Given the description of an element on the screen output the (x, y) to click on. 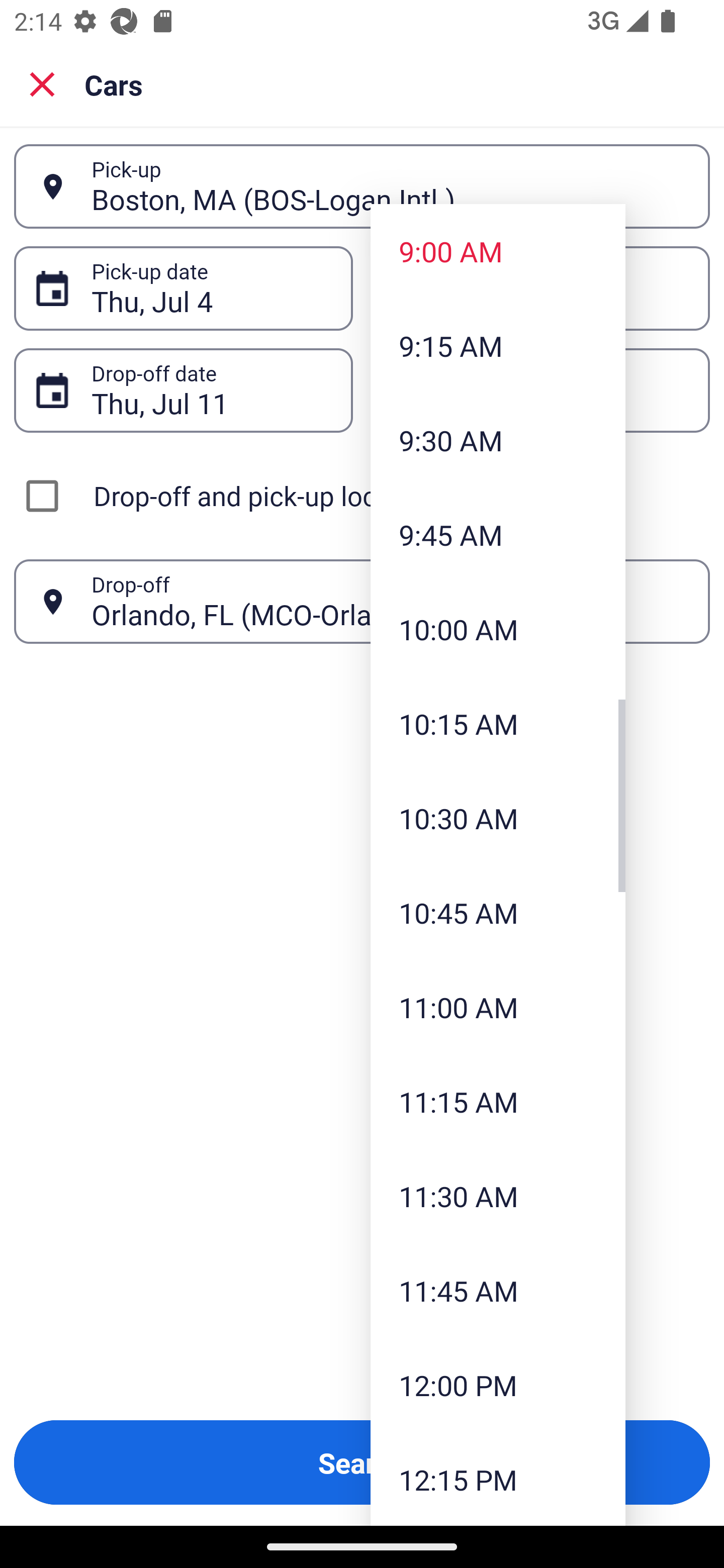
9:00 AM (497, 250)
9:15 AM (497, 345)
9:30 AM (497, 440)
9:45 AM (497, 534)
10:00 AM (497, 628)
10:15 AM (497, 723)
10:30 AM (497, 818)
10:45 AM (497, 912)
11:00 AM (497, 1006)
11:15 AM (497, 1101)
11:30 AM (497, 1196)
11:45 AM (497, 1290)
12:00 PM (497, 1384)
12:15 PM (497, 1478)
